Given the description of an element on the screen output the (x, y) to click on. 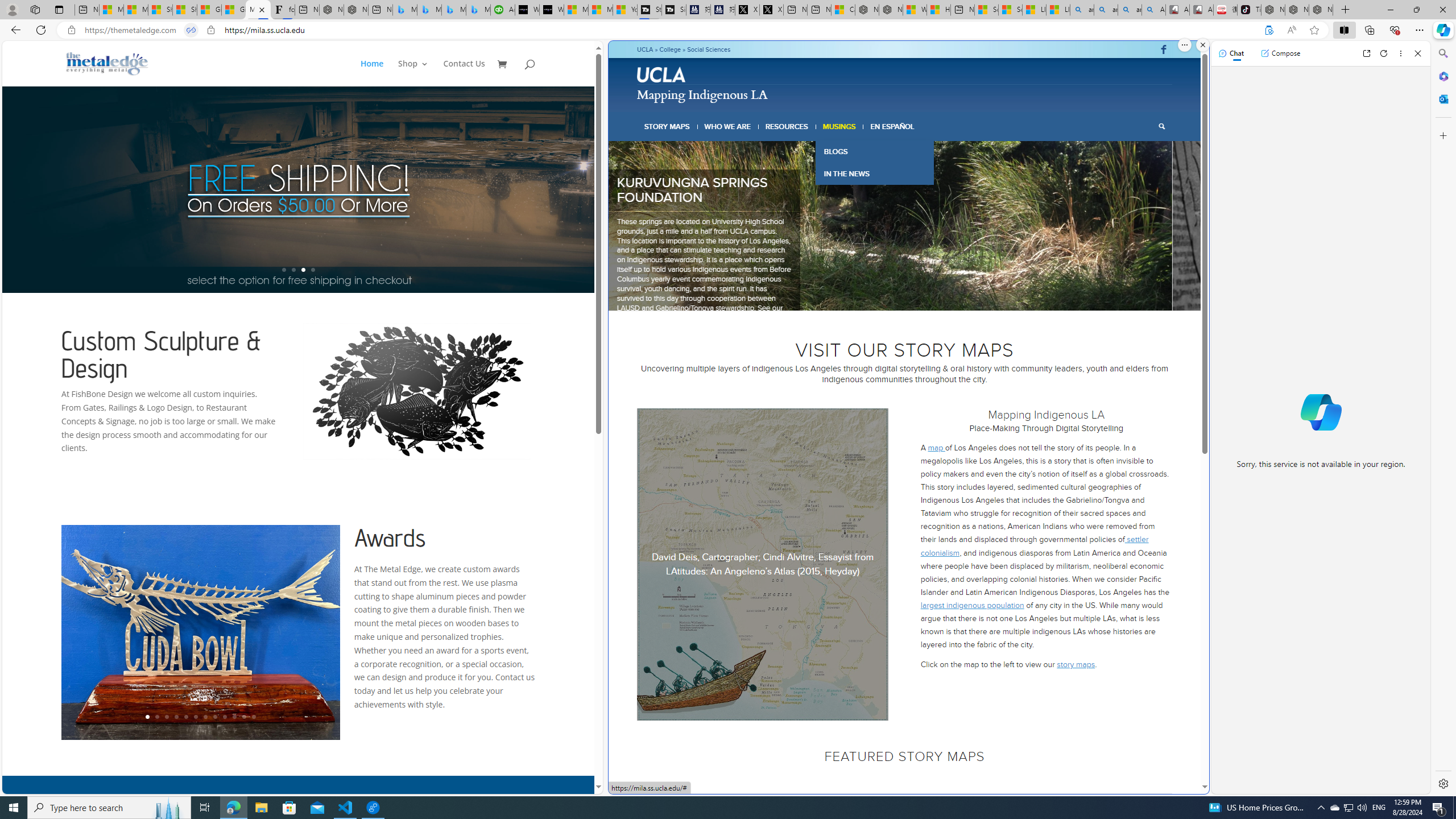
IN THE NEWS (874, 173)
Tabs in split screen (190, 29)
Alvitre map latitudes1 (763, 563)
1 (871, 296)
11 (243, 716)
Side bar (1443, 418)
amazon - Search (1105, 9)
map  (935, 447)
Link to Facebook (1163, 49)
IN THE NEWS (874, 173)
